Given the description of an element on the screen output the (x, y) to click on. 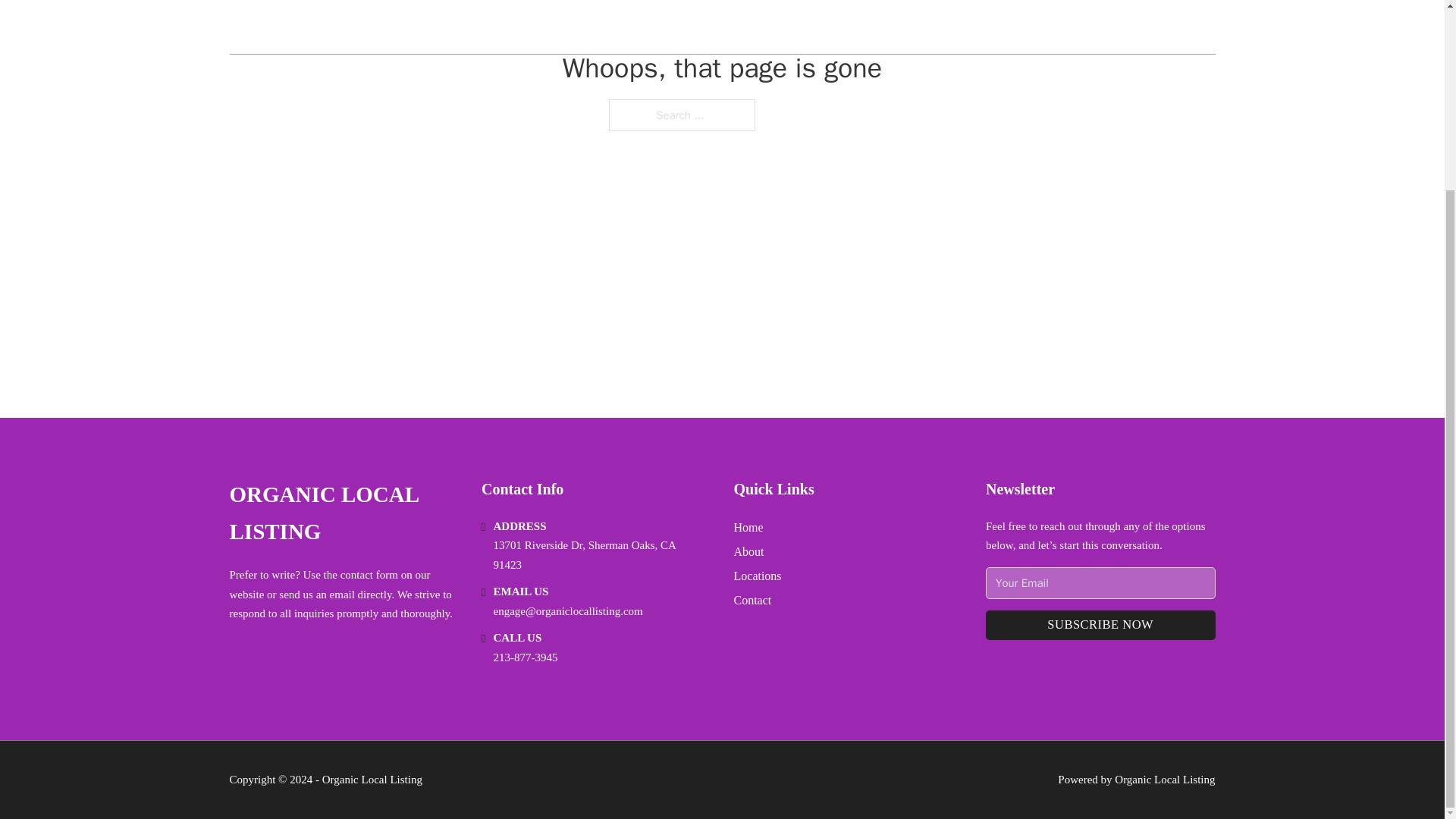
ORGANIC LOCAL LISTING (343, 513)
About (748, 551)
SUBSCRIBE NOW (1100, 624)
Contact (752, 599)
Home (747, 526)
213-877-3945 (525, 657)
Locations (757, 575)
